Given the description of an element on the screen output the (x, y) to click on. 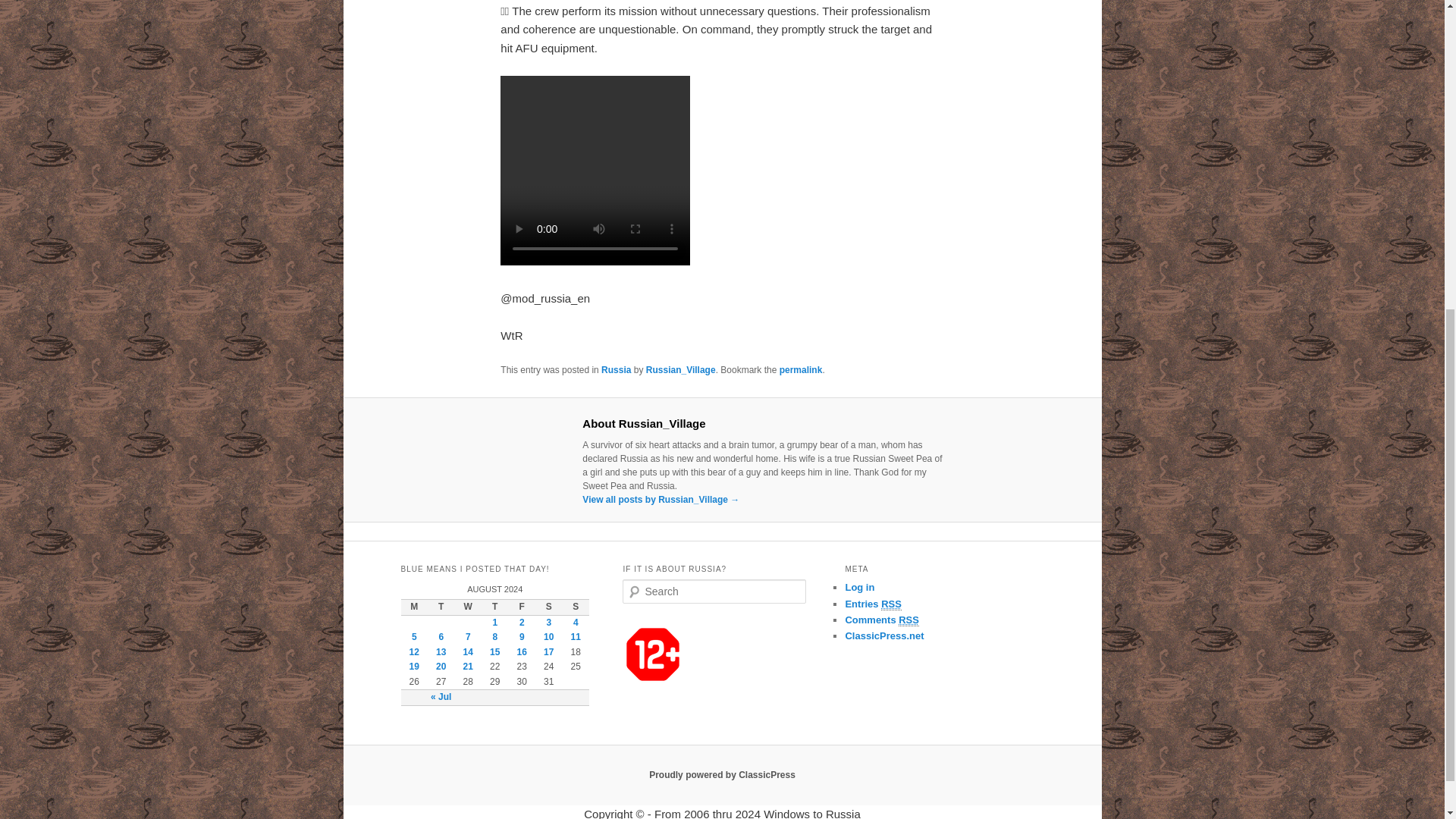
Wednesday (467, 606)
Russia (615, 369)
19 (414, 665)
13 (440, 652)
Semantic Personal Publishing Platform (721, 774)
Tuesday (441, 606)
Friday (521, 606)
Thursday (494, 606)
Saturday (548, 606)
17 (548, 652)
